Given the description of an element on the screen output the (x, y) to click on. 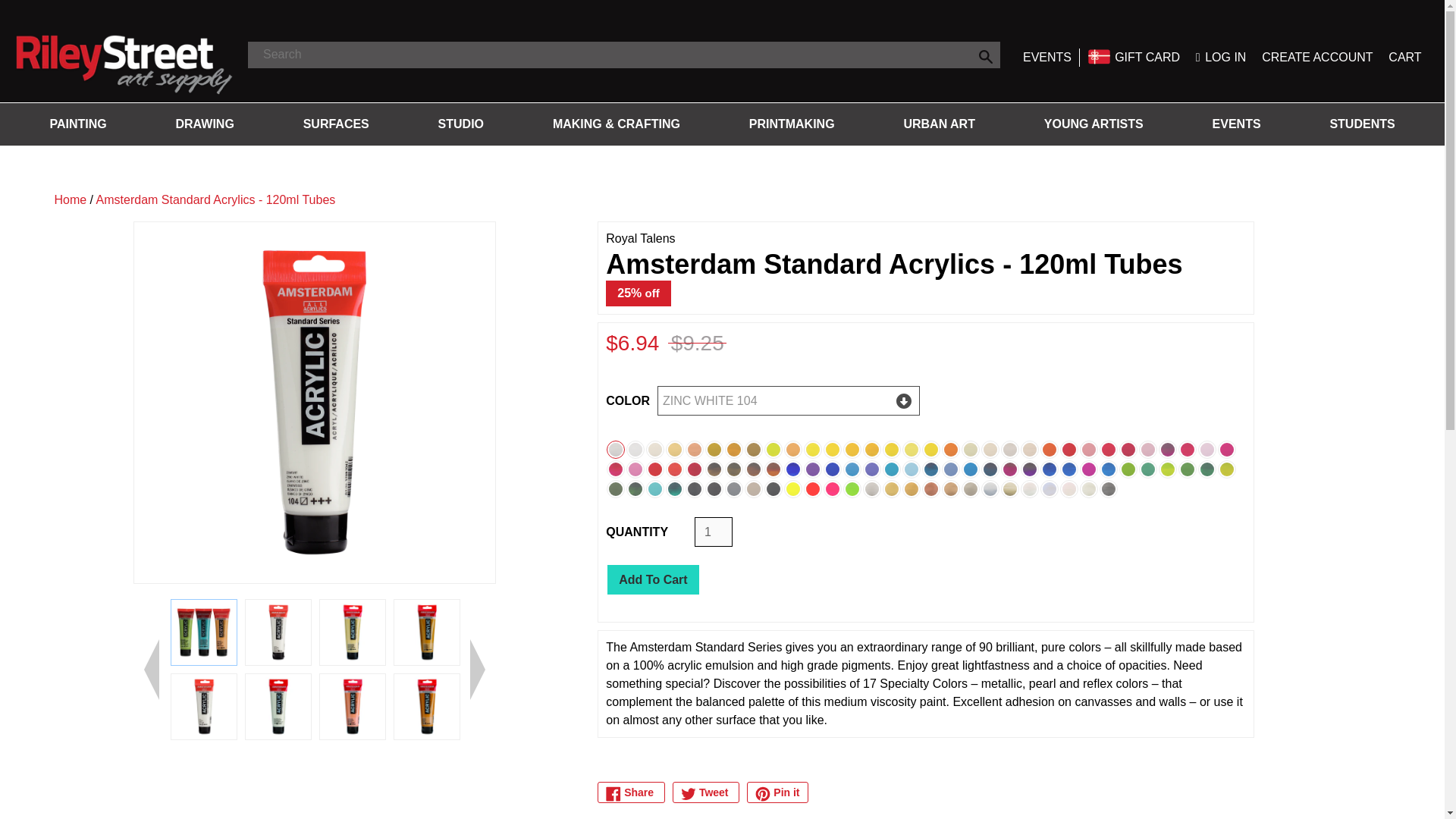
Amsterdam Standard Acrylics - 120ml Tubes (426, 631)
EVENTS (1047, 57)
Amsterdam Standard Acrylics - 120ml Tubes (277, 706)
CART (1405, 57)
1 (713, 531)
Amsterdam Standard Acrylics - 120ml Tubes (277, 631)
CREATE ACCOUNT (1317, 57)
STUDIO (460, 124)
PAINTING (77, 124)
LOG IN (1220, 57)
Search (985, 55)
Amsterdam Standard Acrylics - 120ml Tubes (203, 706)
Amsterdam Standard Acrylics - 120ml Tubes (129, 706)
Amsterdam Standard Acrylics - 120ml Tubes (351, 706)
Amsterdam Standard Acrylics - 120ml Tubes (351, 631)
